Given the description of an element on the screen output the (x, y) to click on. 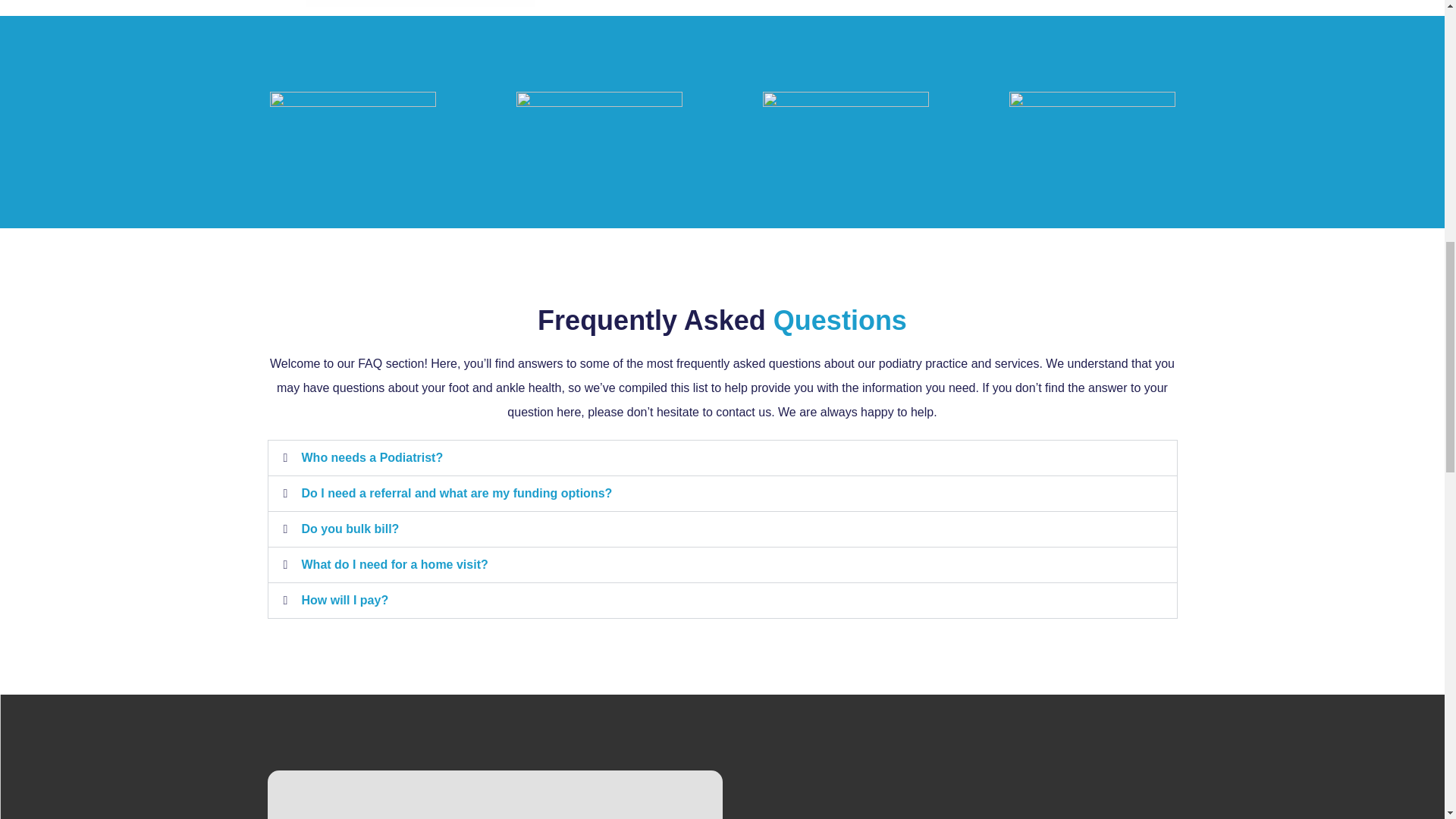
Do you bulk bill? (349, 528)
What do I need for a home visit? (394, 563)
Who needs a Podiatrist? (372, 457)
Do I need a referral and what are my funding options? (456, 492)
How will I pay? (344, 599)
